Given the description of an element on the screen output the (x, y) to click on. 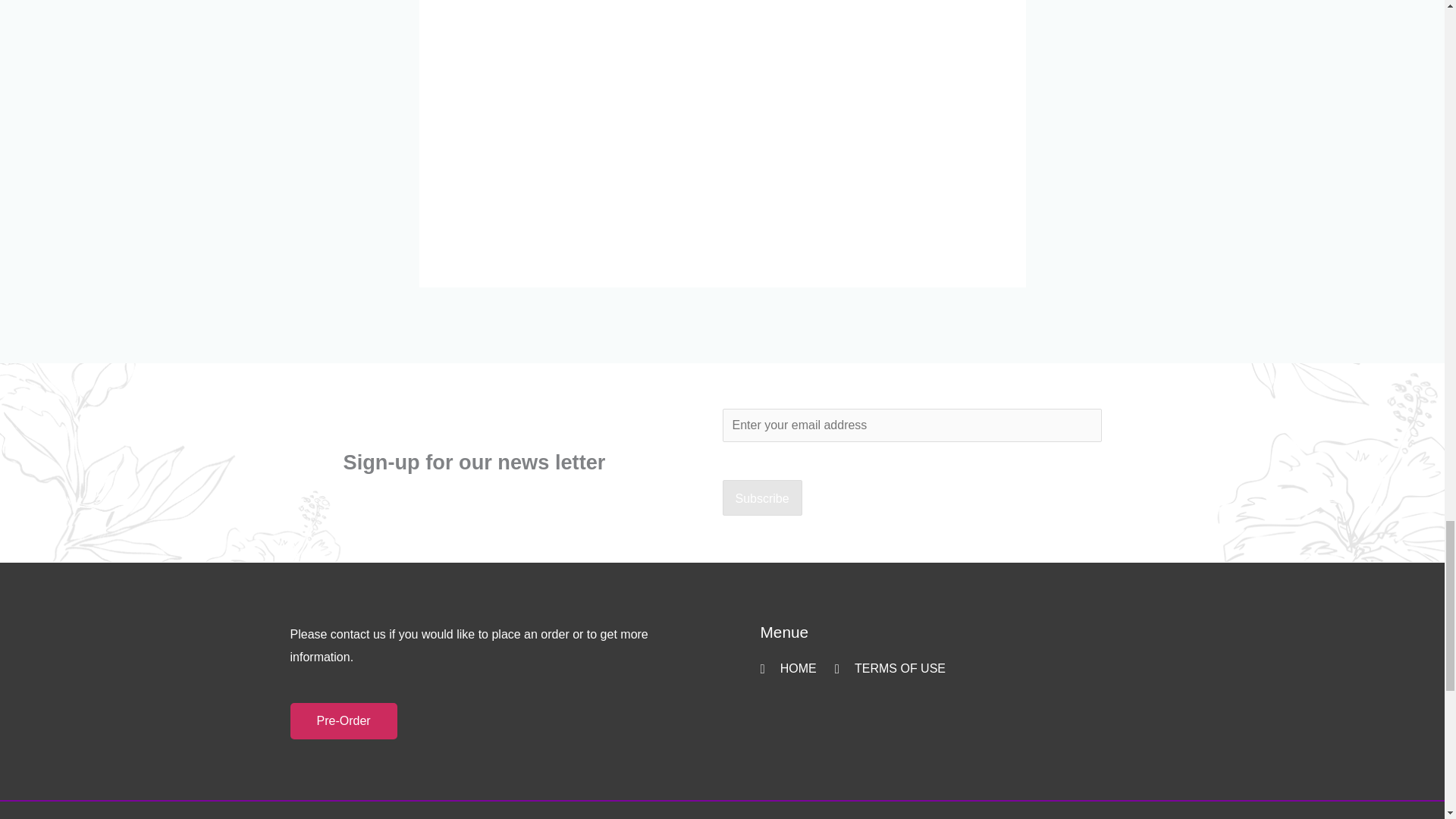
Pre-Order (342, 720)
TERMS OF USE (889, 668)
Subscribe (762, 497)
HOME (787, 668)
